Given the description of an element on the screen output the (x, y) to click on. 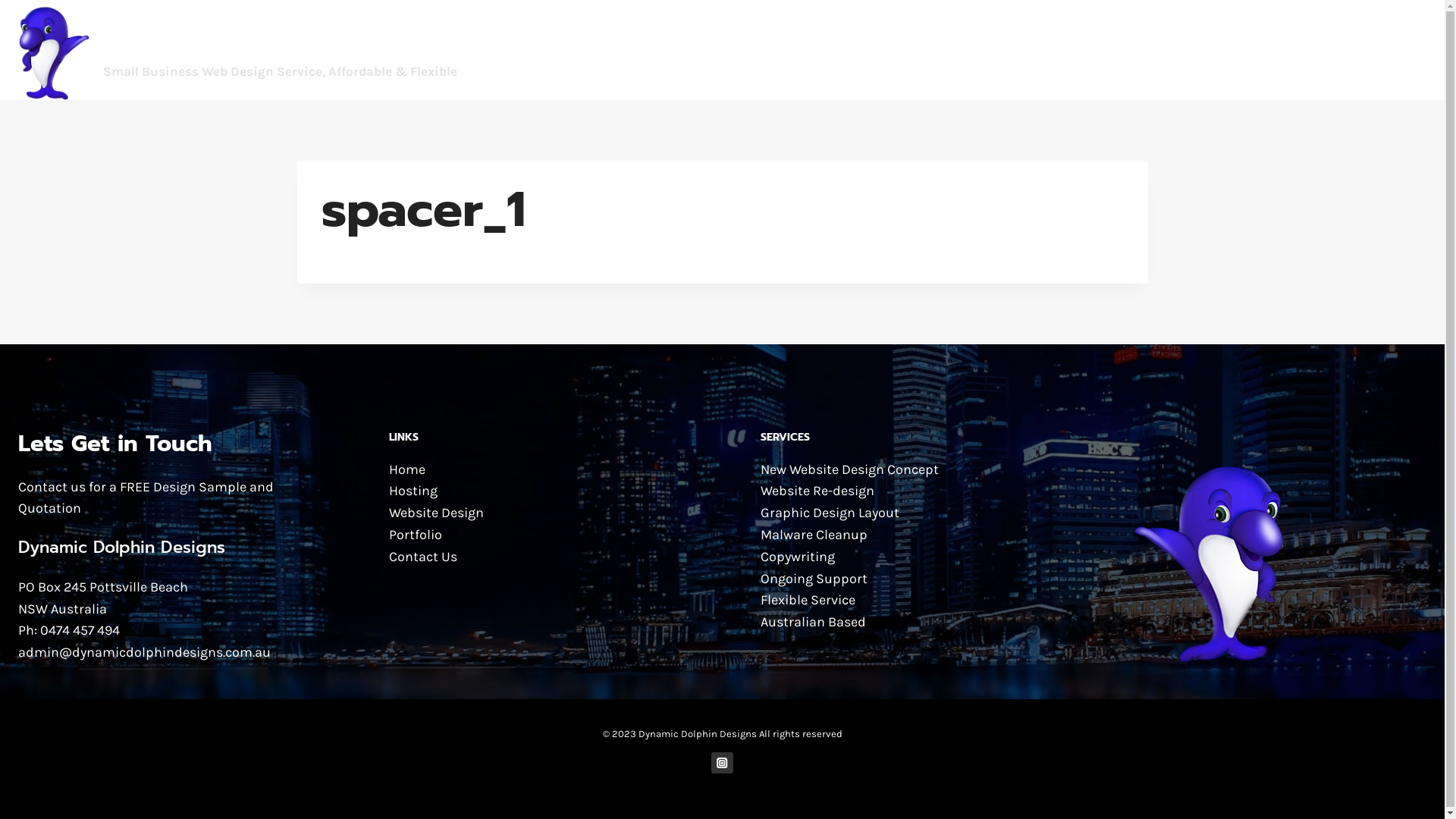
Hosting Element type: text (413, 490)
HOSTING Element type: text (1235, 49)
Portfolio Element type: text (415, 534)
PORTFOLIO Element type: text (1313, 49)
HOME Element type: text (1052, 49)
Contact Us Element type: text (423, 556)
Home Element type: text (407, 469)
CONTACT Element type: text (1390, 49)
Website Design Element type: text (436, 512)
WEBSITE DESIGN Element type: text (1139, 49)
